Given the description of an element on the screen output the (x, y) to click on. 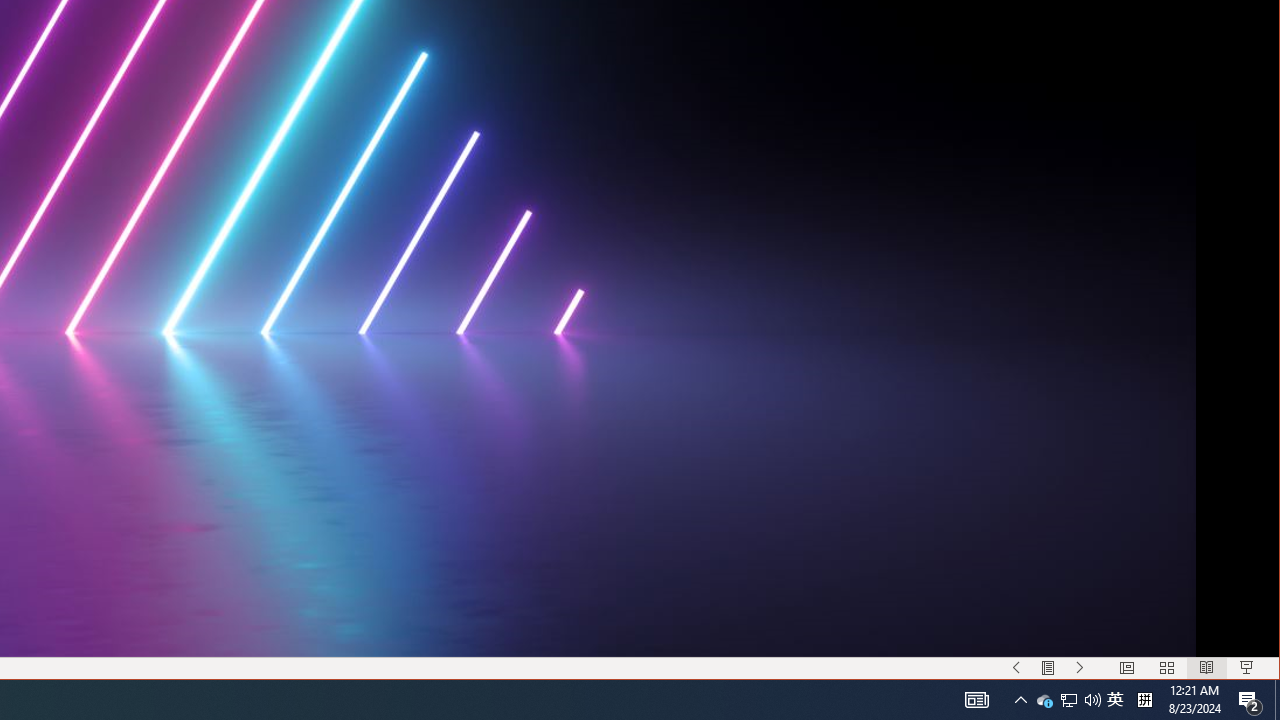
Slide Show Next On (1080, 668)
